Given the description of an element on the screen output the (x, y) to click on. 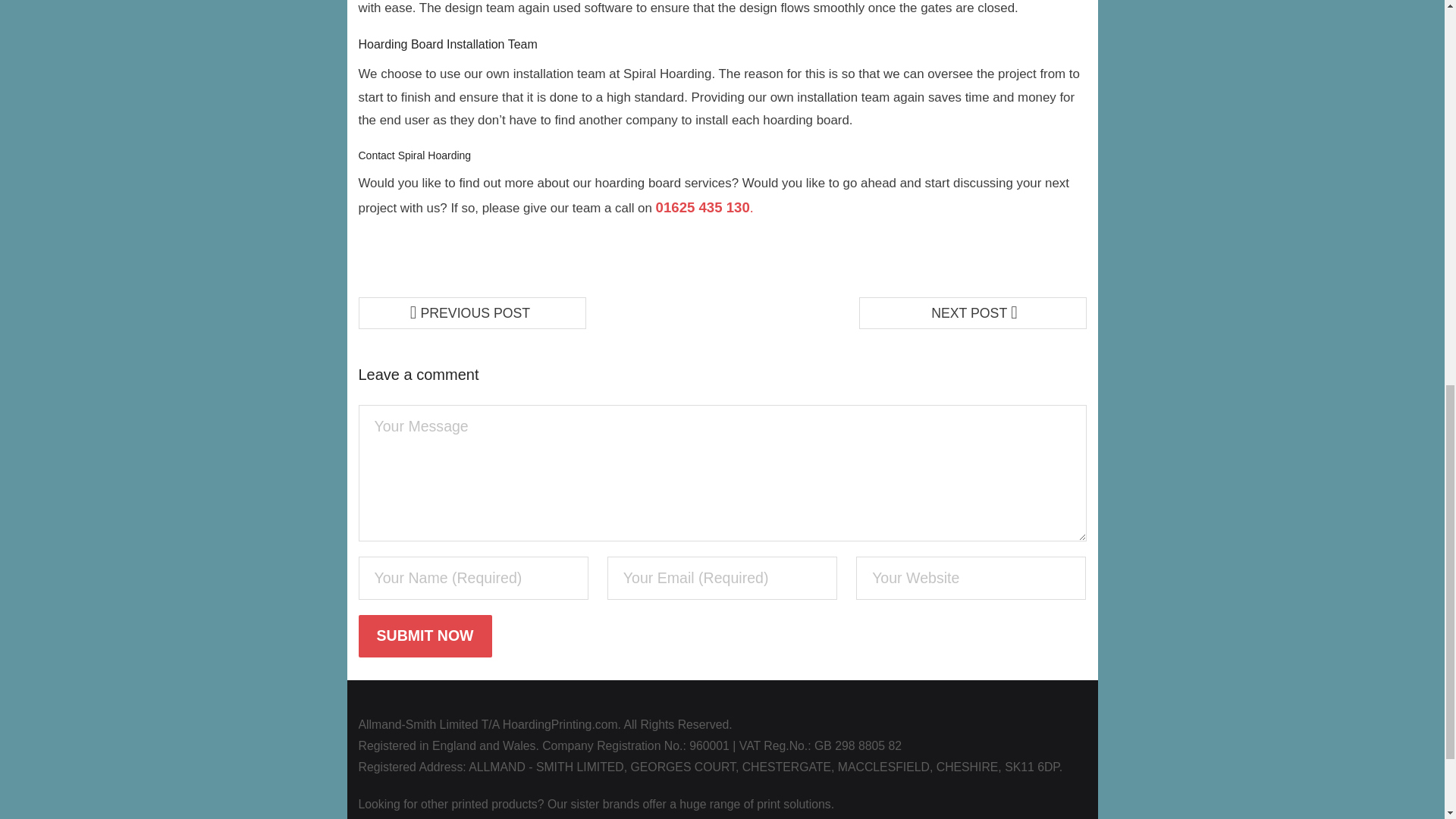
PREVIOUS POST (471, 313)
Submit Now (425, 635)
NEXT POST (972, 313)
Submit Now (425, 635)
01625 435 130. (705, 207)
